Given the description of an element on the screen output the (x, y) to click on. 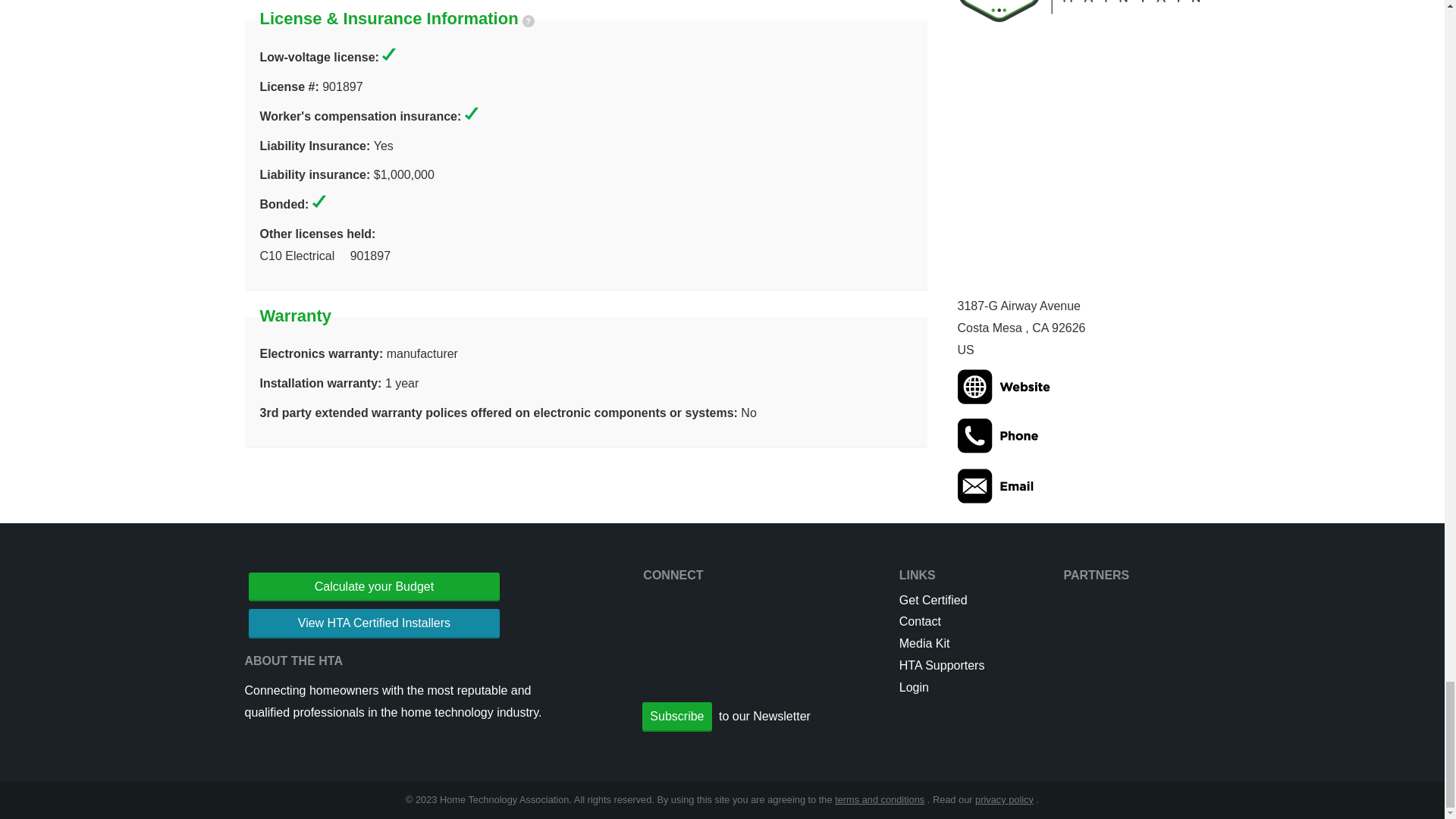
View HTA Certified Installers (374, 623)
Calculate your Budget (374, 586)
